Given the description of an element on the screen output the (x, y) to click on. 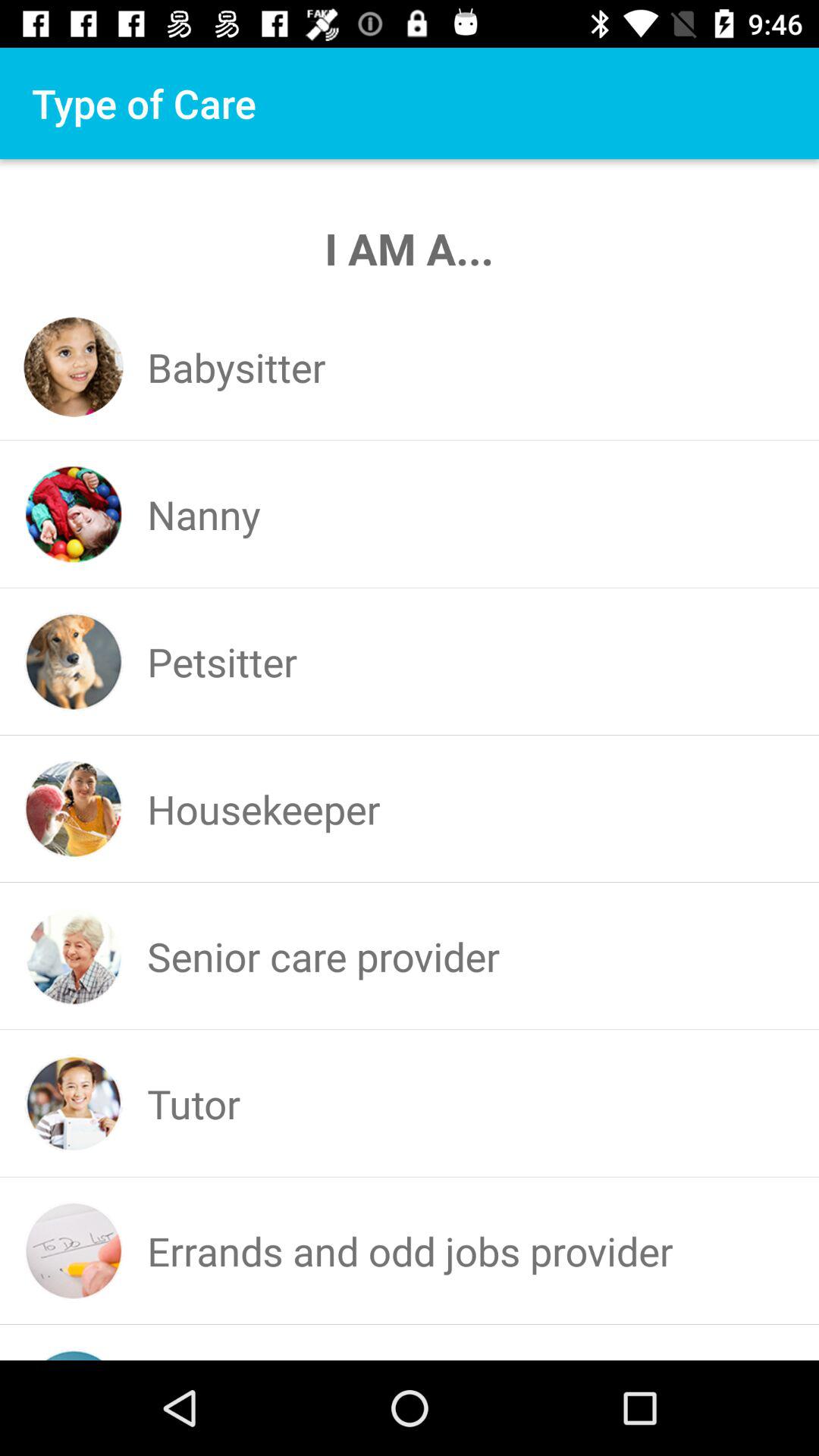
flip until nanny (203, 513)
